Given the description of an element on the screen output the (x, y) to click on. 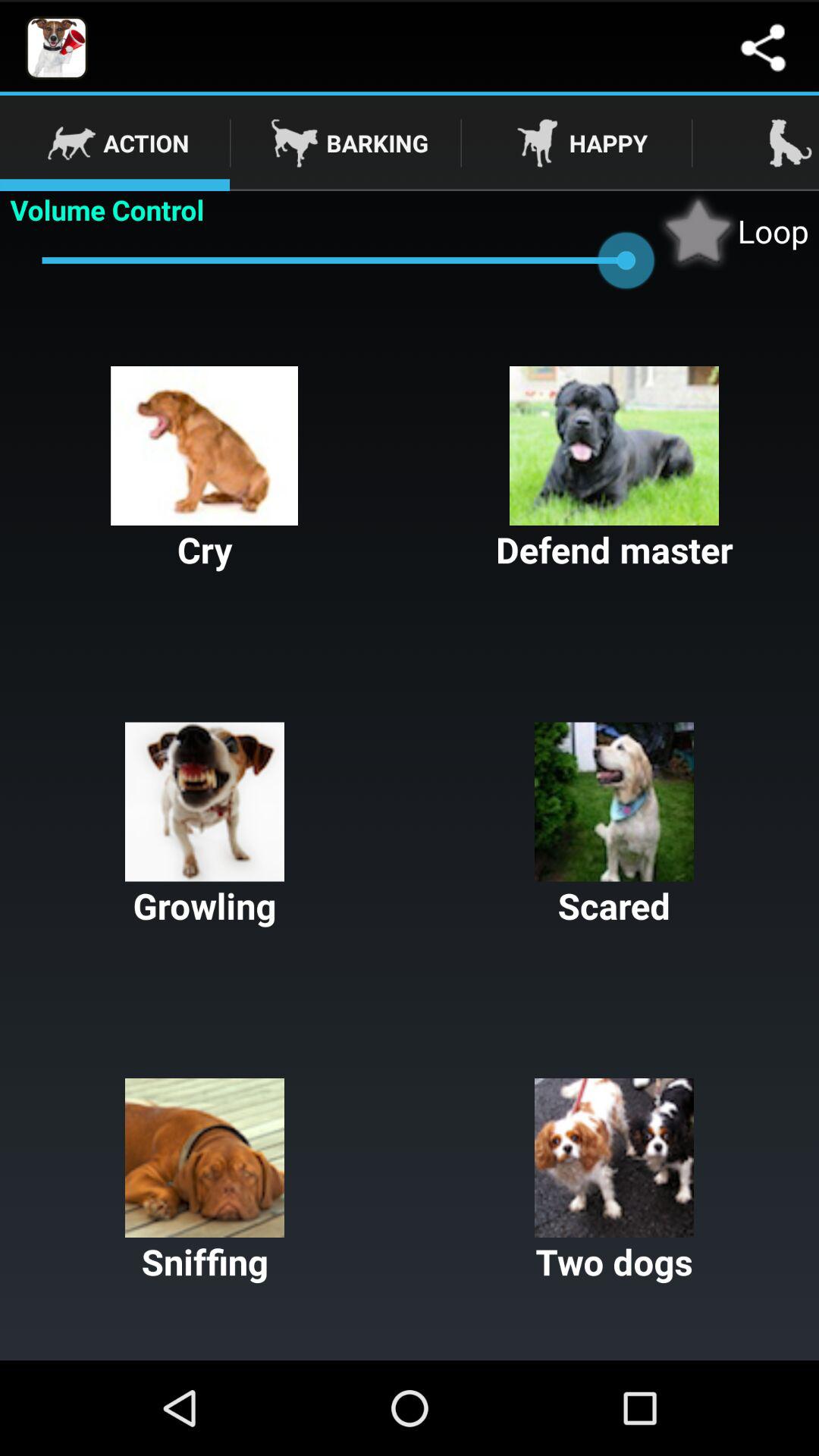
select the icon to the right of volume control (733, 230)
